Given the description of an element on the screen output the (x, y) to click on. 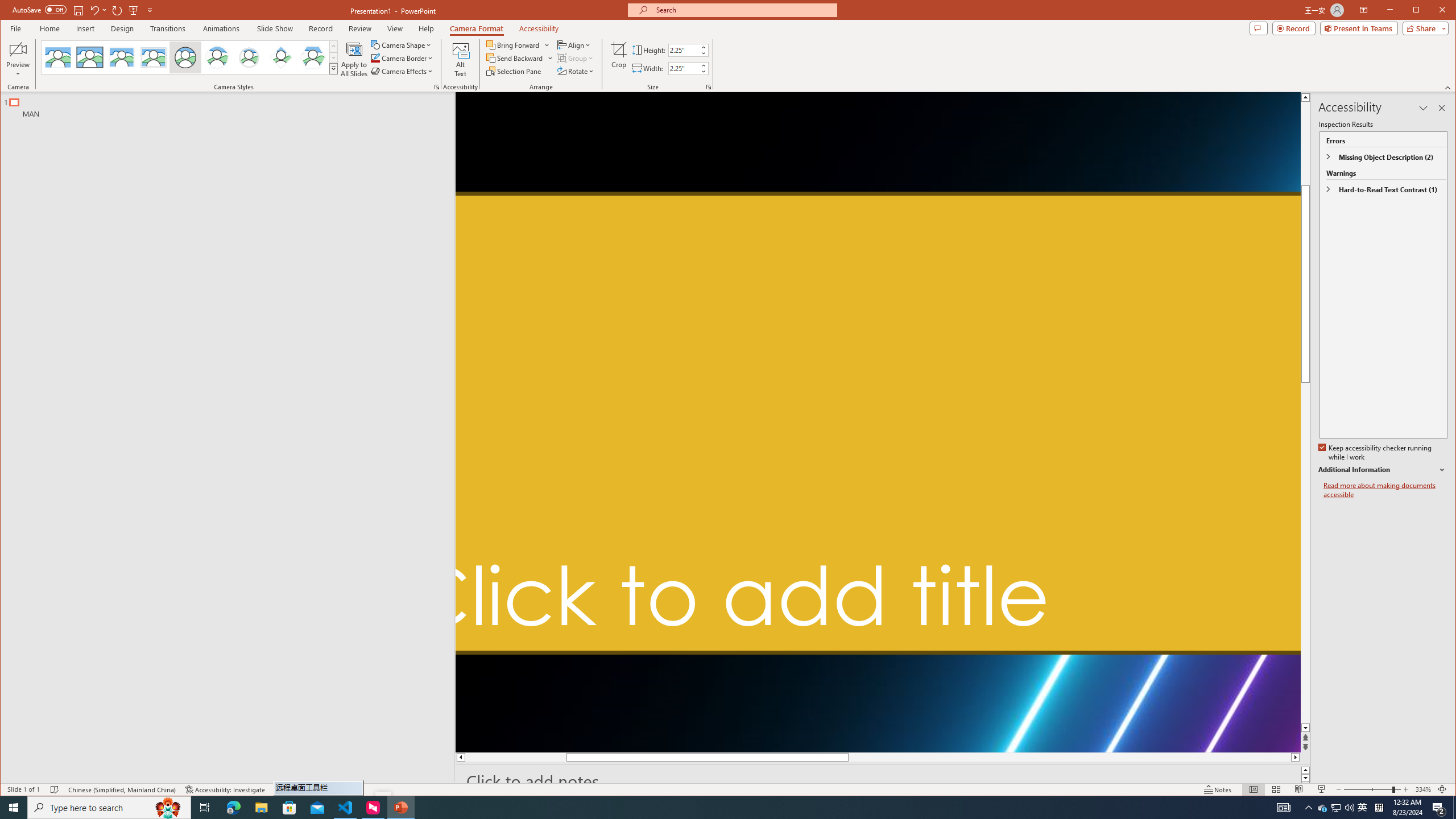
Camera Border Blue, Accent 1 (375, 57)
No Style (58, 57)
Crop (618, 59)
Size and Position... (708, 86)
